Given the description of an element on the screen output the (x, y) to click on. 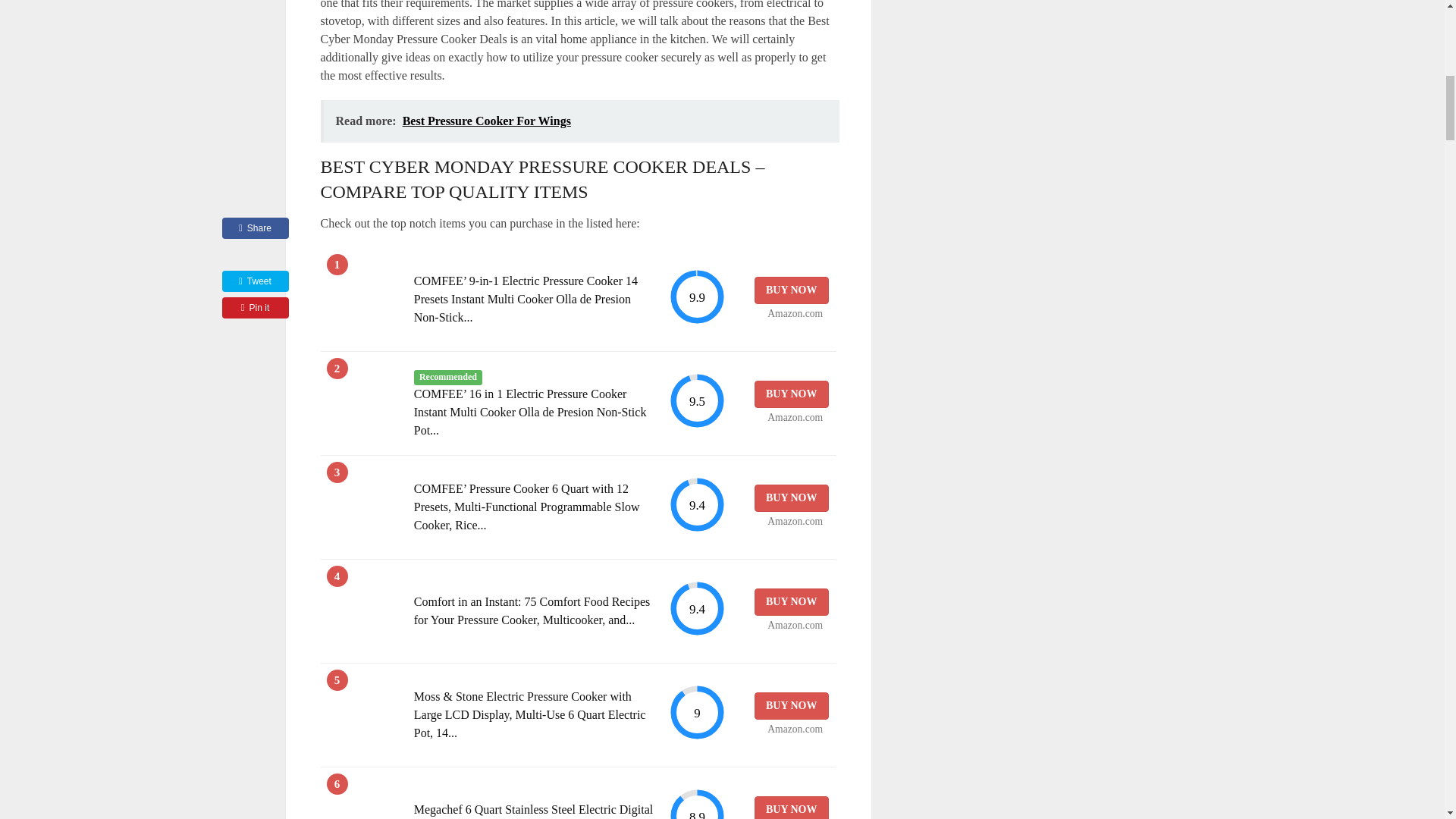
9.4 (696, 608)
9.5 (696, 400)
9 (696, 712)
8.9 (696, 803)
9.4 (696, 504)
9.9 (696, 296)
